Given the description of an element on the screen output the (x, y) to click on. 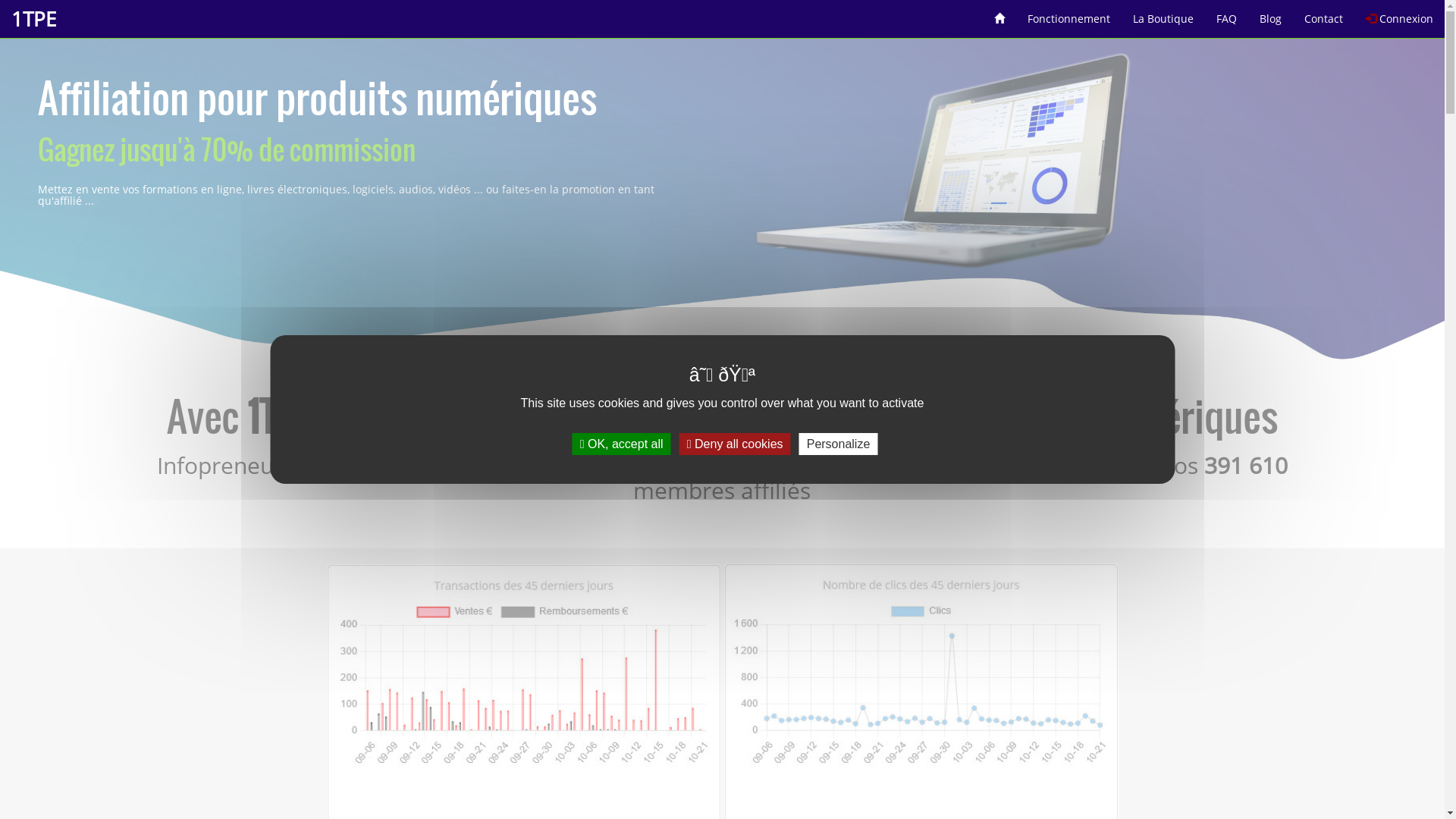
1TPE Element type: text (33, 18)
FAQ Element type: text (1226, 13)
La Boutique Element type: text (1162, 13)
Fonctionnement Element type: text (1068, 13)
Contact Element type: text (1323, 13)
OK, accept all Element type: text (621, 444)
Personalize Element type: text (838, 444)
Deny all cookies Element type: text (734, 444)
Blog Element type: text (1270, 13)
Connexion Element type: text (1399, 13)
